Given the description of an element on the screen output the (x, y) to click on. 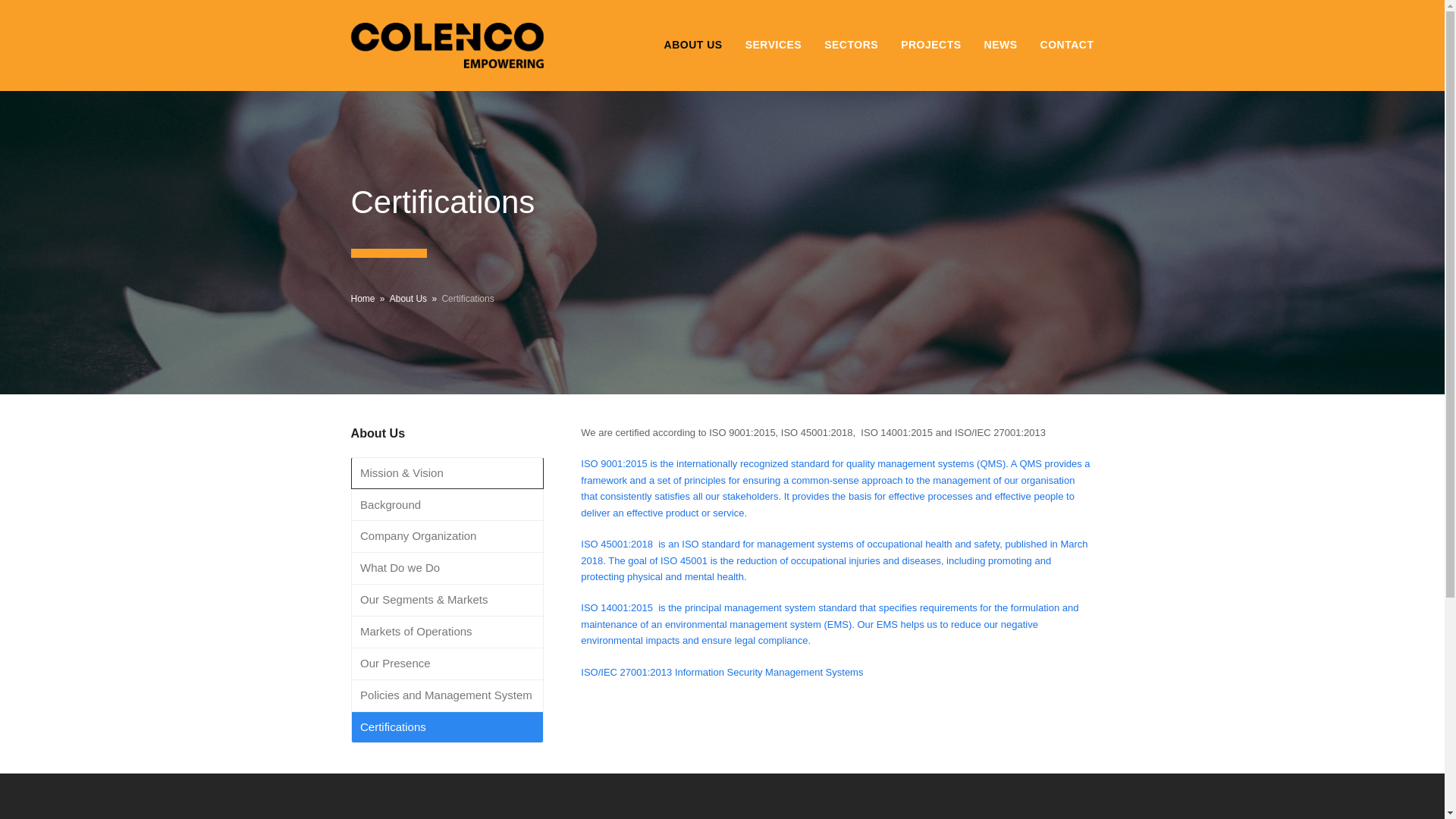
SERVICES (773, 45)
SECTORS (850, 45)
ABOUT US (692, 45)
PROJECTS (930, 45)
NEWS (1000, 45)
CONTACT (1067, 45)
